Given the description of an element on the screen output the (x, y) to click on. 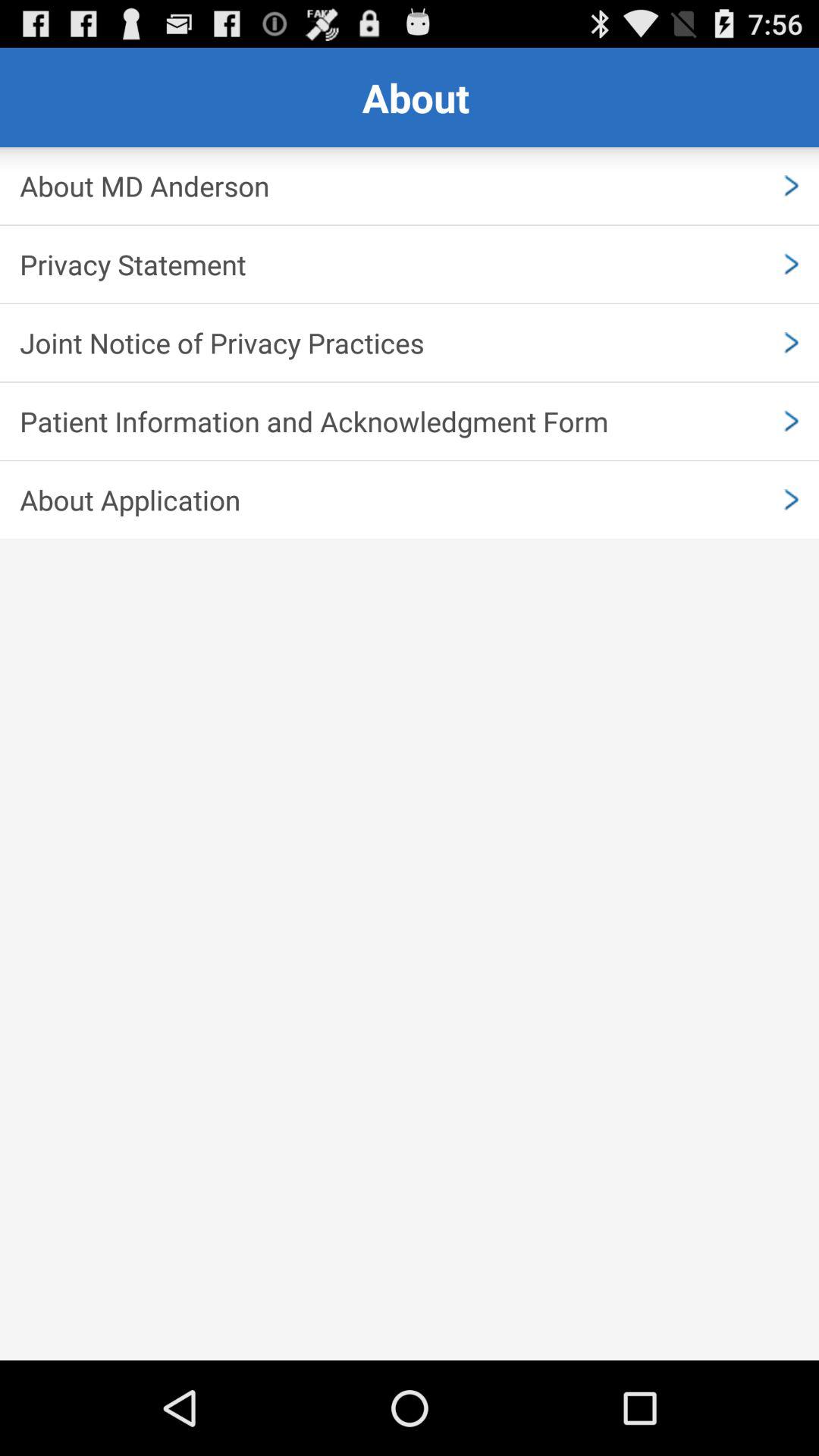
click the app above the patient information and icon (409, 342)
